Given the description of an element on the screen output the (x, y) to click on. 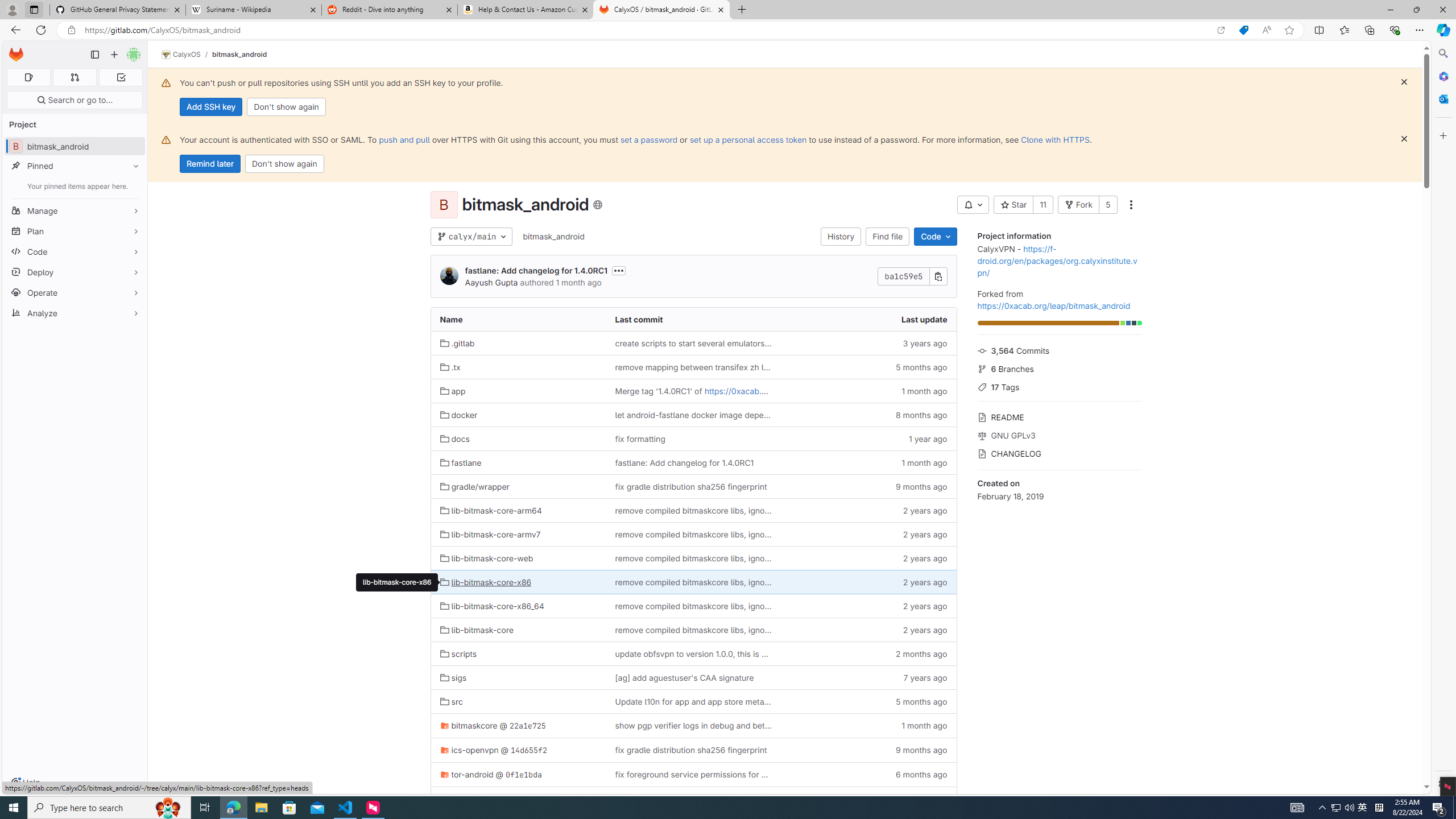
Fork (1078, 204)
.tx (449, 367)
src (451, 701)
Manage (74, 210)
Class: s16 position-relative file-icon (444, 773)
Deploy (74, 271)
lib-bitmask-core-x86_64 (491, 605)
22a1e725 (527, 725)
fastlane: Add changelog for 1.4.0RC1 (693, 462)
Skip to main content (13, 49)
Analyze (74, 312)
